Given the description of an element on the screen output the (x, y) to click on. 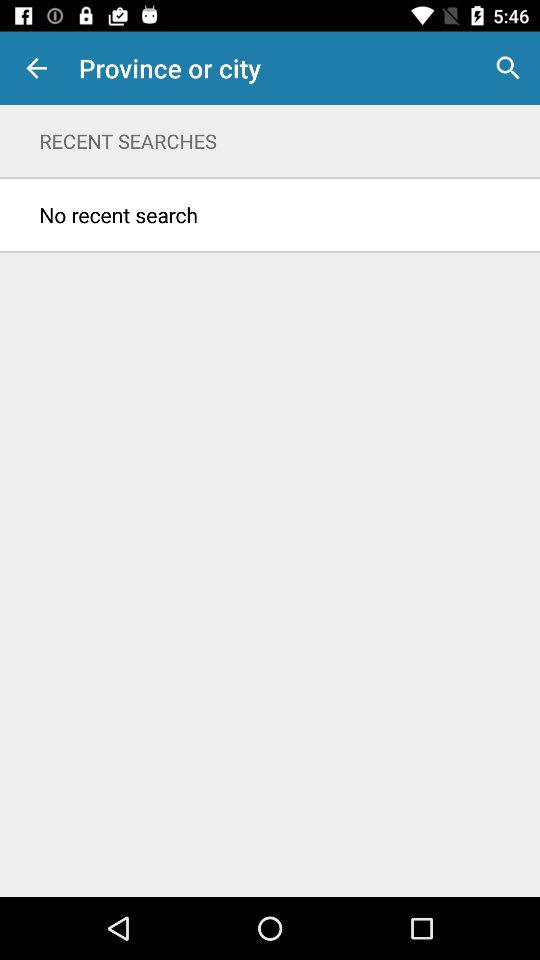
tap icon at the top right corner (508, 67)
